Given the description of an element on the screen output the (x, y) to click on. 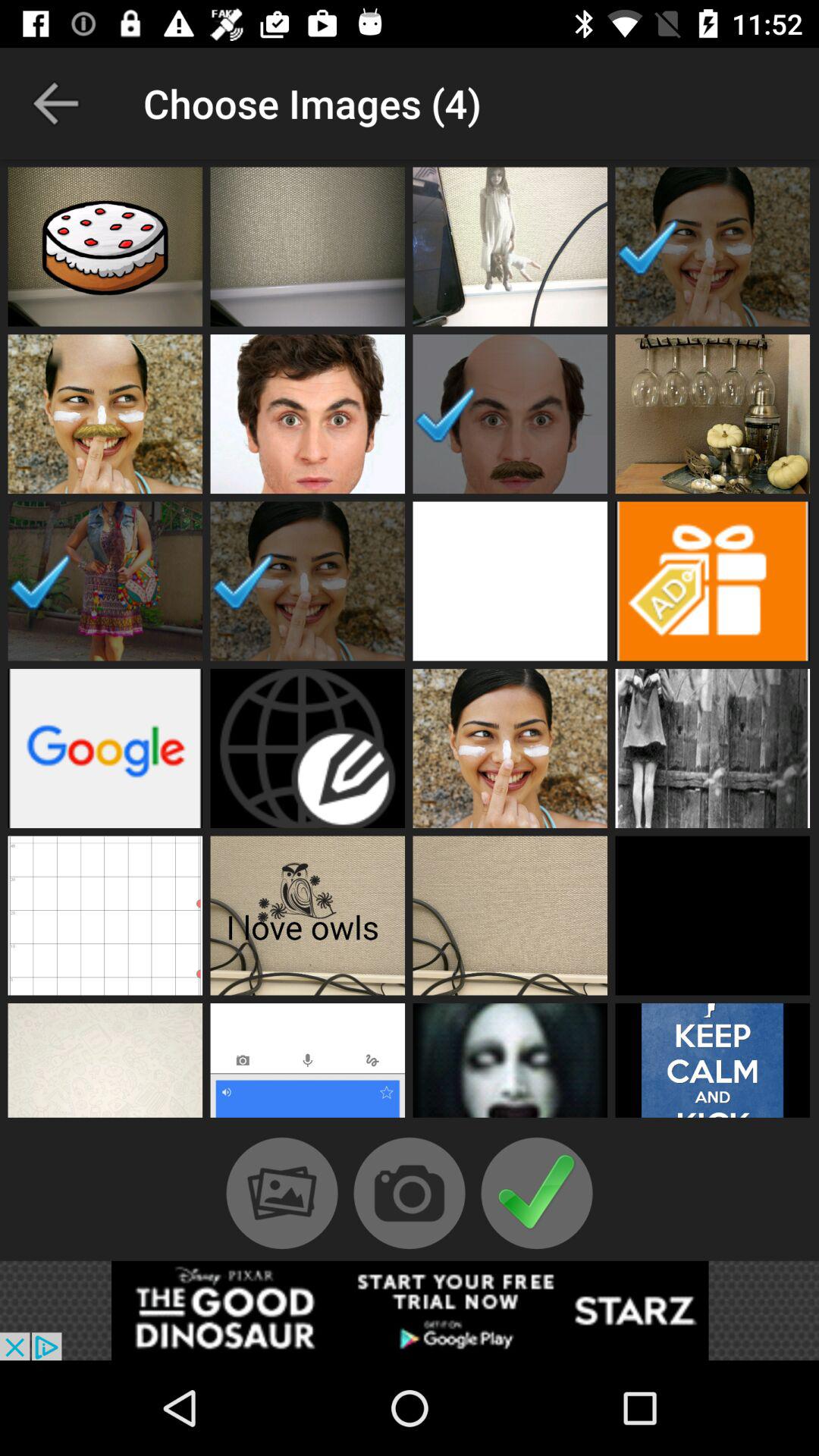
image of a girl with paint on face (712, 246)
